Given the description of an element on the screen output the (x, y) to click on. 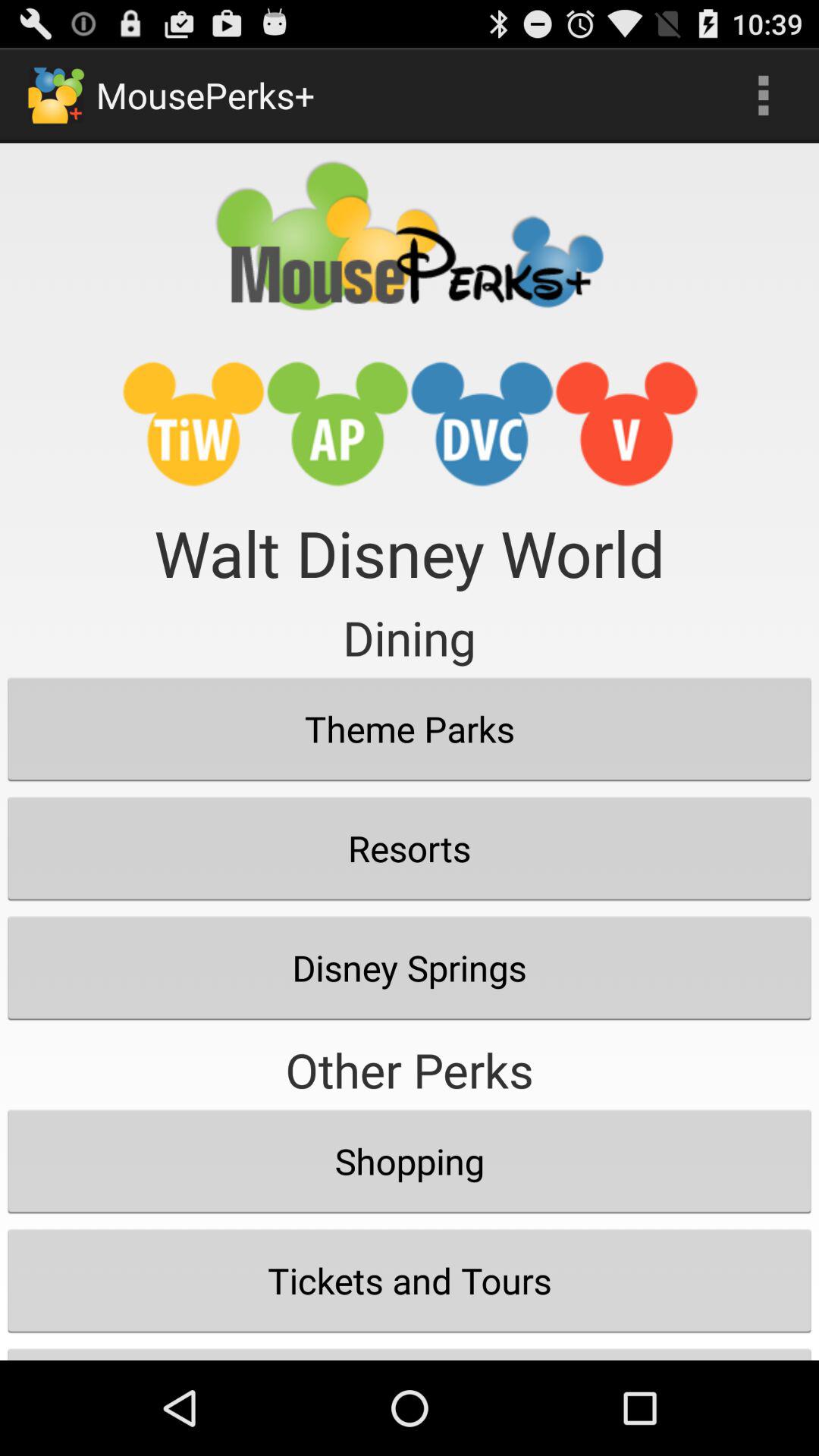
tap the tickets and tours item (409, 1280)
